Given the description of an element on the screen output the (x, y) to click on. 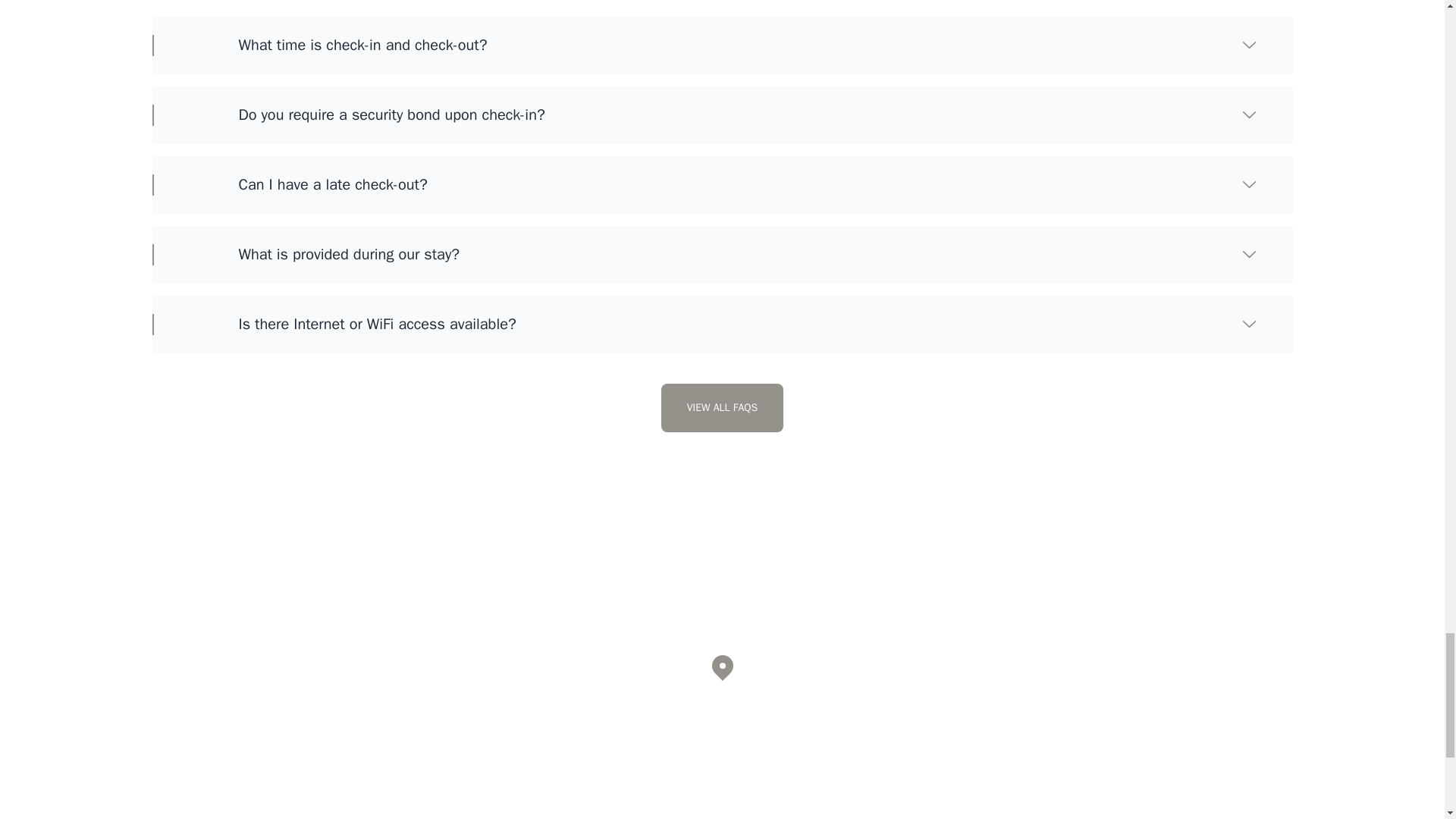
What is provided during our stay? (703, 254)
Can I have a late check-out? (703, 184)
Do you require a security bond upon check-in? (703, 115)
VIEW ALL FAQS (722, 408)
What time is check-in and check-out? (703, 45)
Is there Internet or WiFi access available? (703, 323)
